Given the description of an element on the screen output the (x, y) to click on. 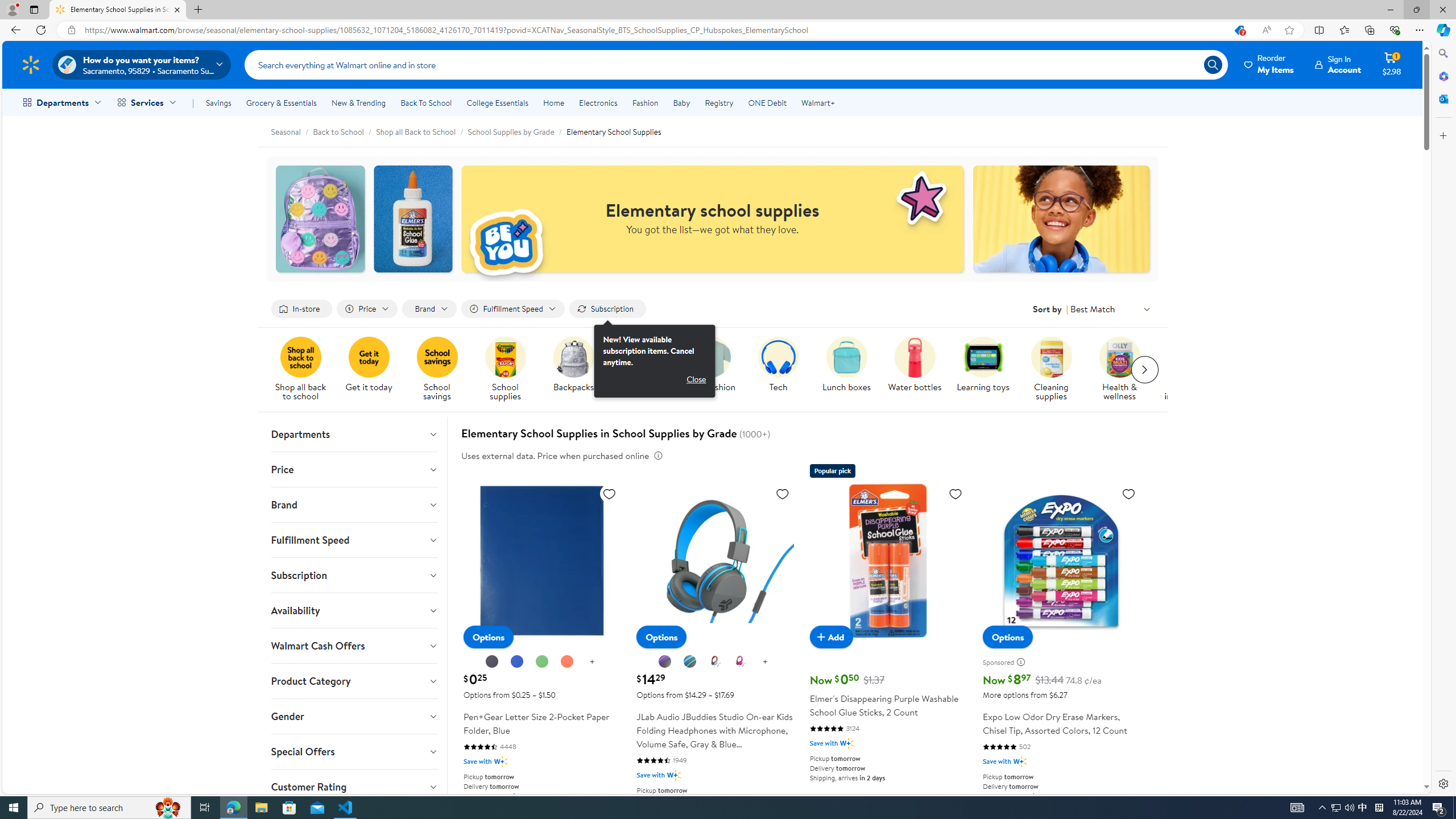
Cleaning supplies (1050, 357)
Registry (718, 102)
Pink (740, 662)
New & Trending (358, 102)
A gray metallic backpack is on display. Backpacks (572, 364)
College Essentials (496, 102)
Tech (782, 369)
Multicolor (714, 661)
Lunch boxes Lunch boxes (846, 364)
Subscription (354, 574)
Grocery & Essentials (280, 102)
